Given the description of an element on the screen output the (x, y) to click on. 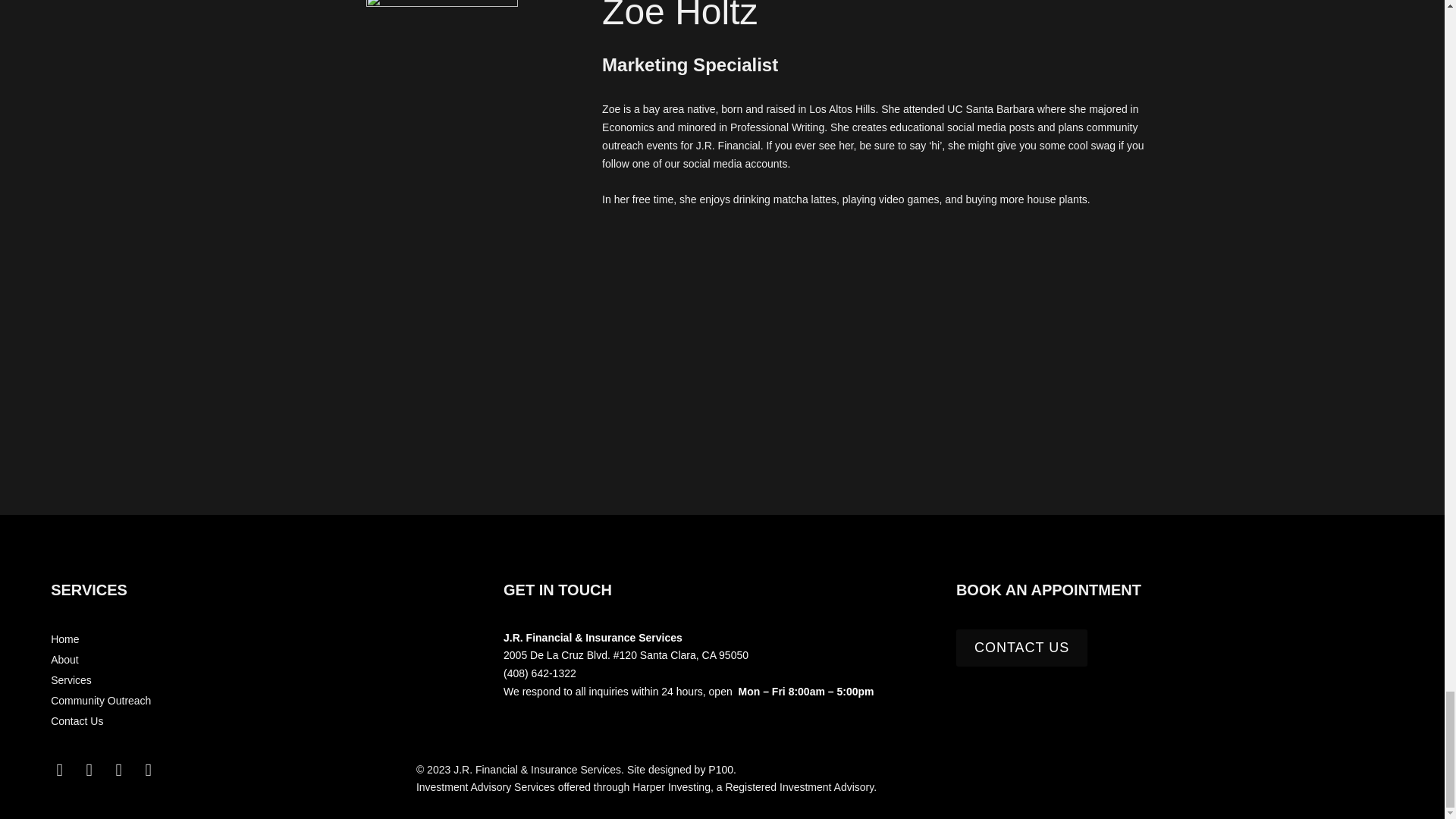
Community Outreach (268, 701)
Services (268, 680)
Home (268, 639)
P100 (720, 769)
CONTACT US (1021, 647)
About (268, 660)
Contact Us (268, 721)
